Given the description of an element on the screen output the (x, y) to click on. 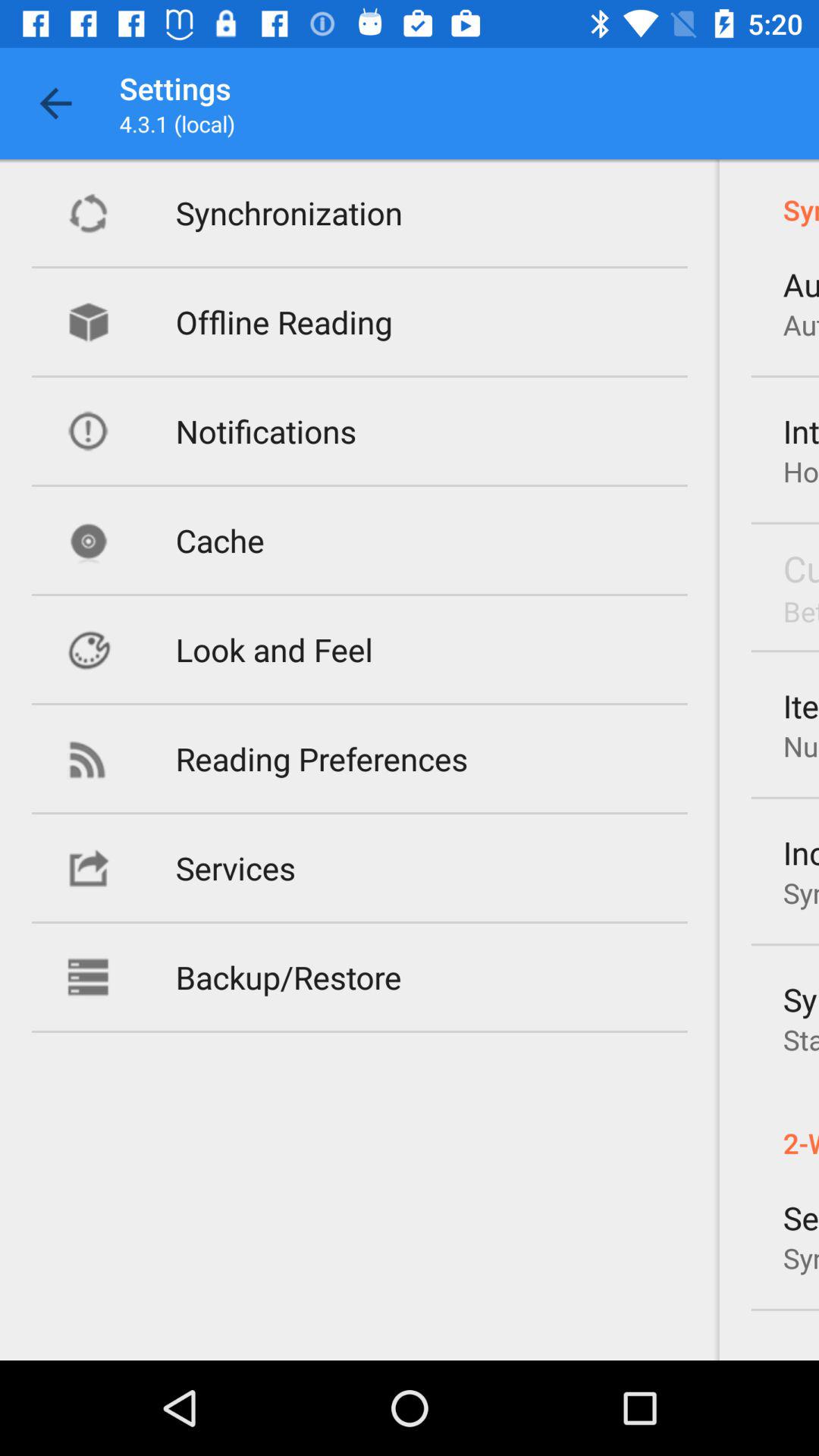
press the item above the include starred items item (801, 745)
